Given the description of an element on the screen output the (x, y) to click on. 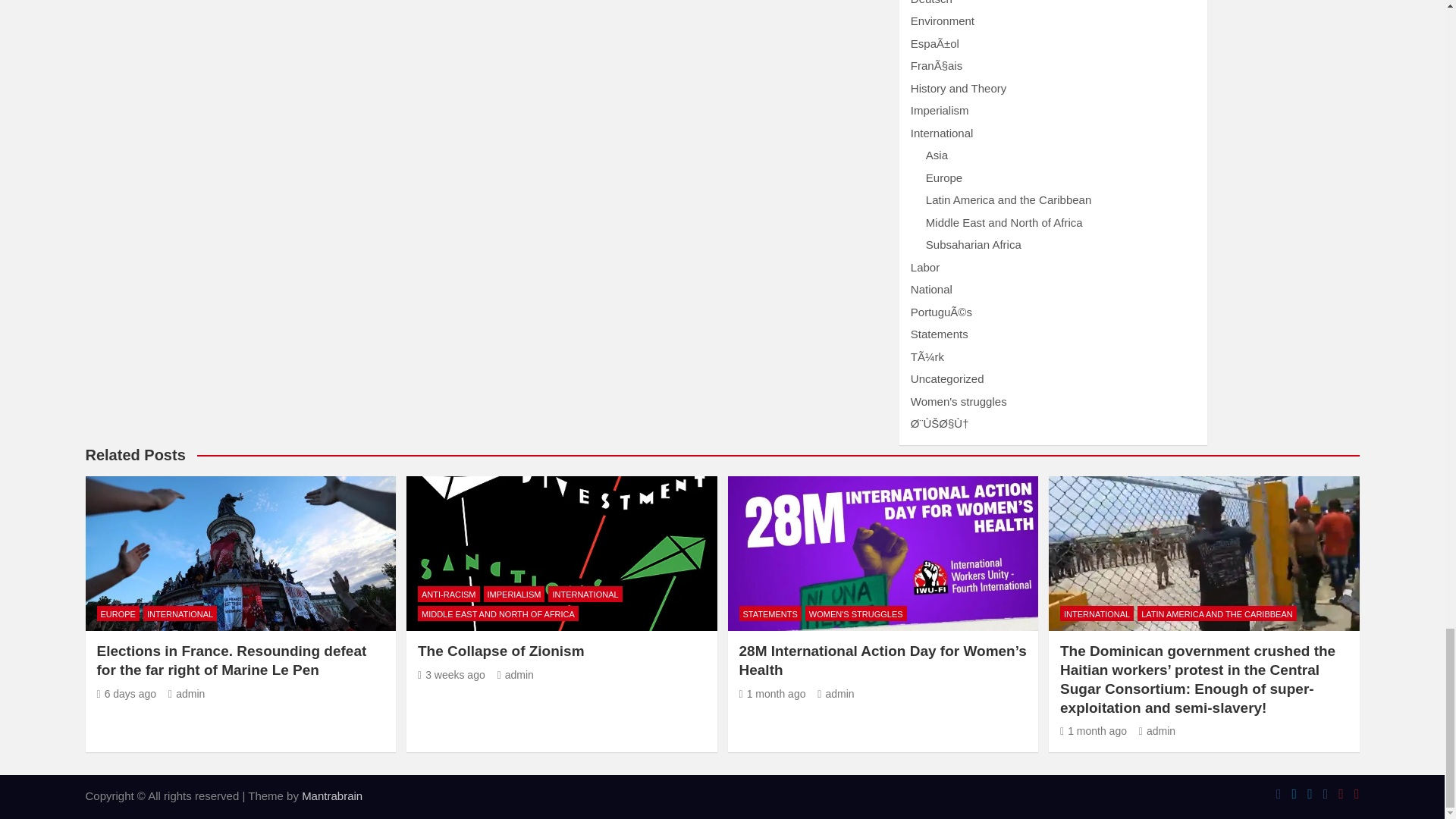
The Collapse of Zionism (450, 674)
Mantrabrain (331, 795)
